Given the description of an element on the screen output the (x, y) to click on. 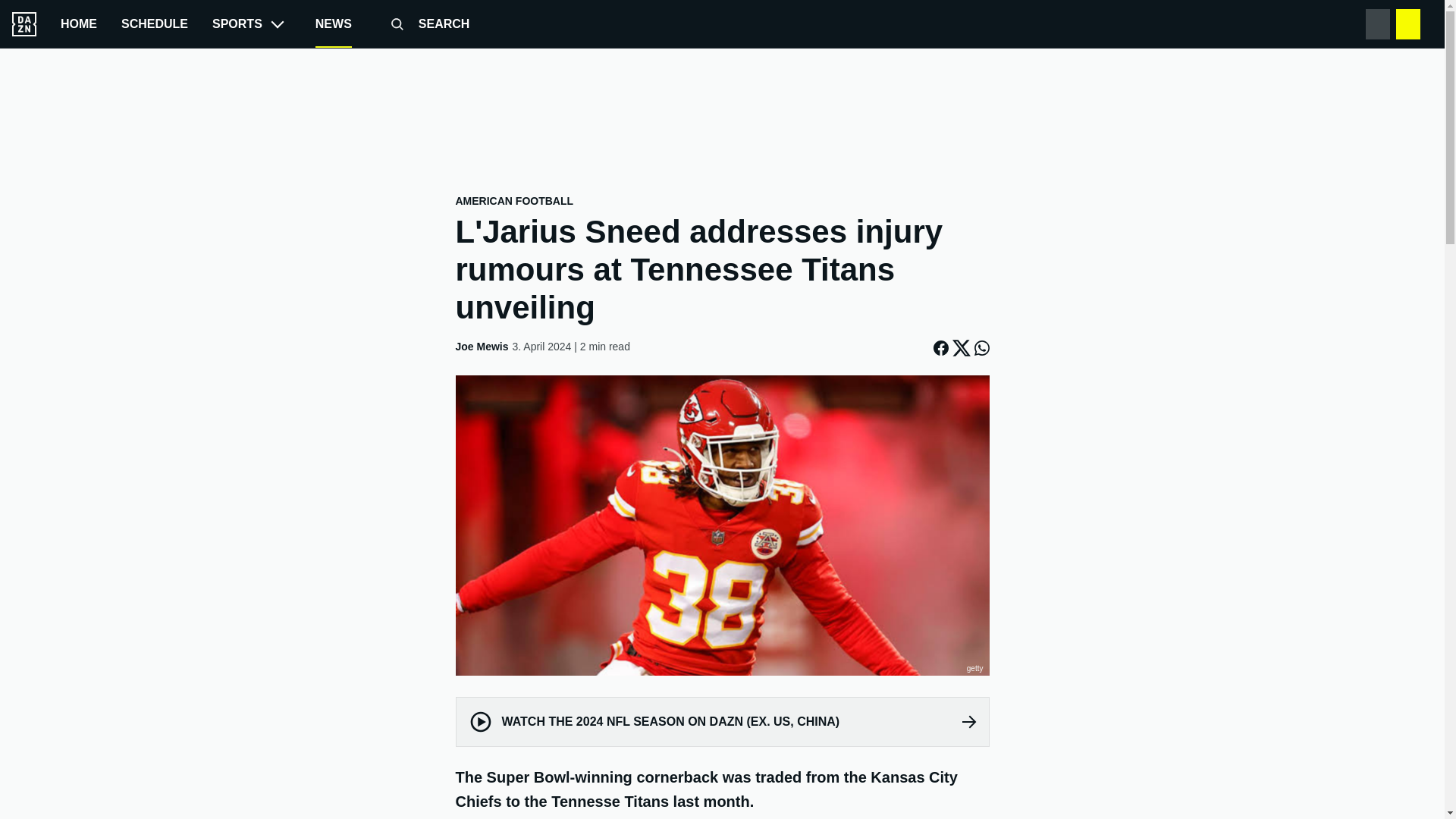
SEARCH (422, 23)
SCHEDULE (153, 23)
SPORTS (251, 23)
